Given the description of an element on the screen output the (x, y) to click on. 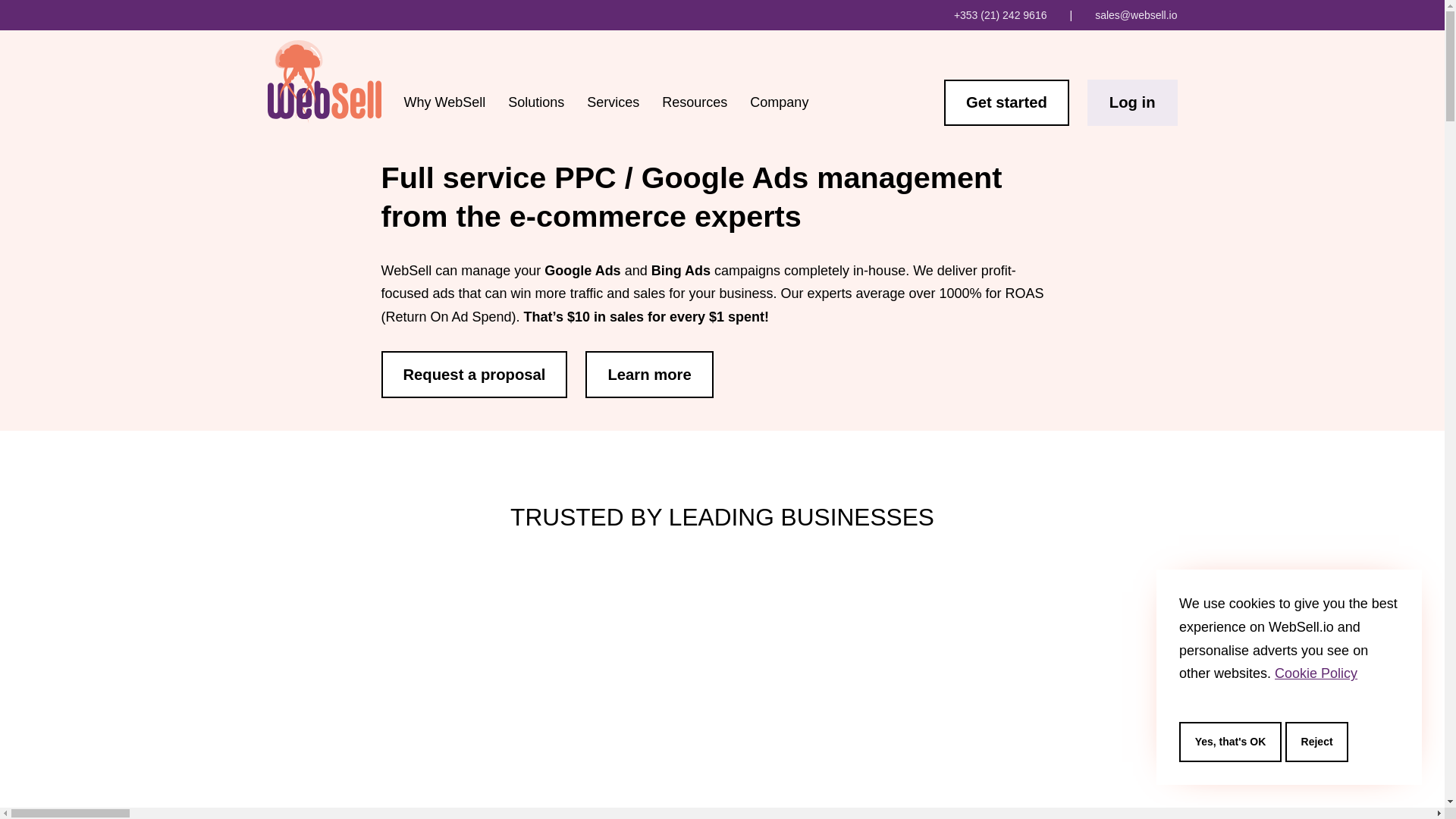
Resources (694, 102)
Why WebSell (443, 102)
Services (612, 102)
Solutions (536, 102)
